Given the description of an element on the screen output the (x, y) to click on. 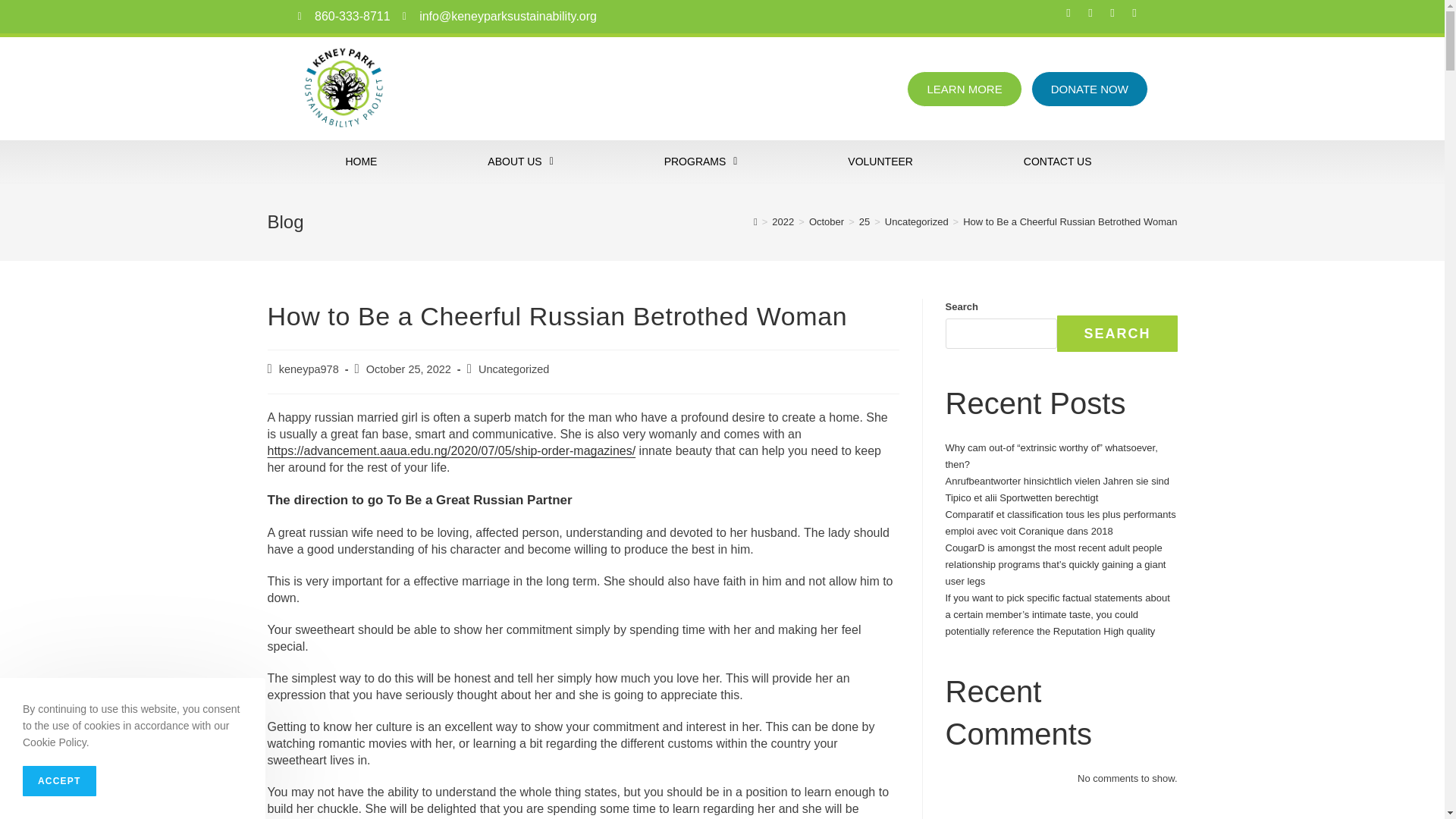
HOME (360, 161)
860-333-8711 (343, 16)
DONATE NOW (1089, 89)
CONTACT US (1057, 161)
Posts by keneypa978 (309, 369)
ABOUT US (520, 161)
LEARN MORE (964, 89)
VOLUNTEER (880, 161)
PROGRAMS (700, 161)
